Given the description of an element on the screen output the (x, y) to click on. 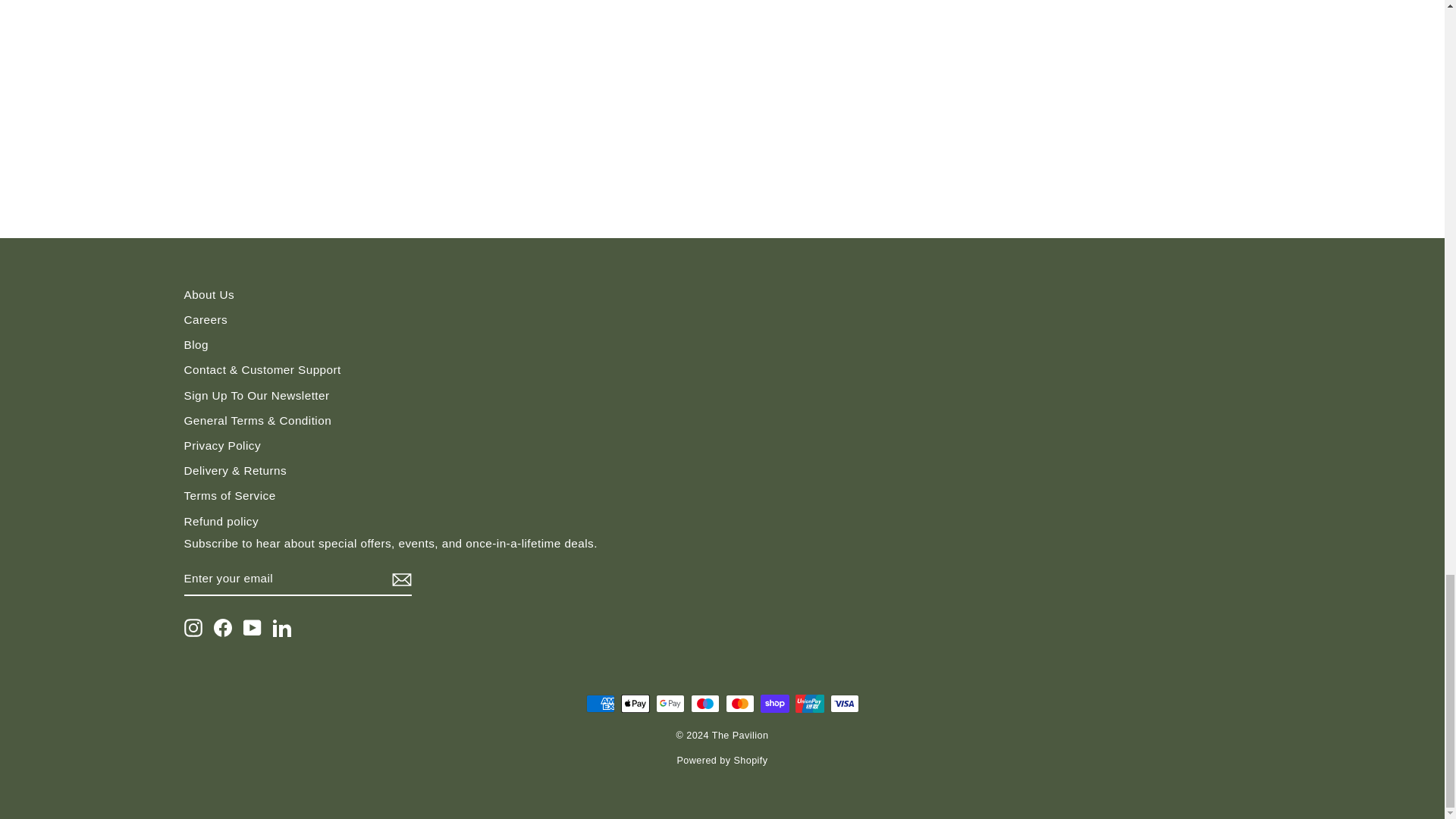
Maestro (704, 703)
Shop Pay (774, 703)
The Pavilion on Facebook (222, 628)
Google Pay (669, 703)
The Pavilion on Instagram (192, 628)
Mastercard (739, 703)
American Express (599, 703)
Visa (844, 703)
The Pavilion on YouTube (251, 628)
Apple Pay (634, 703)
